Given the description of an element on the screen output the (x, y) to click on. 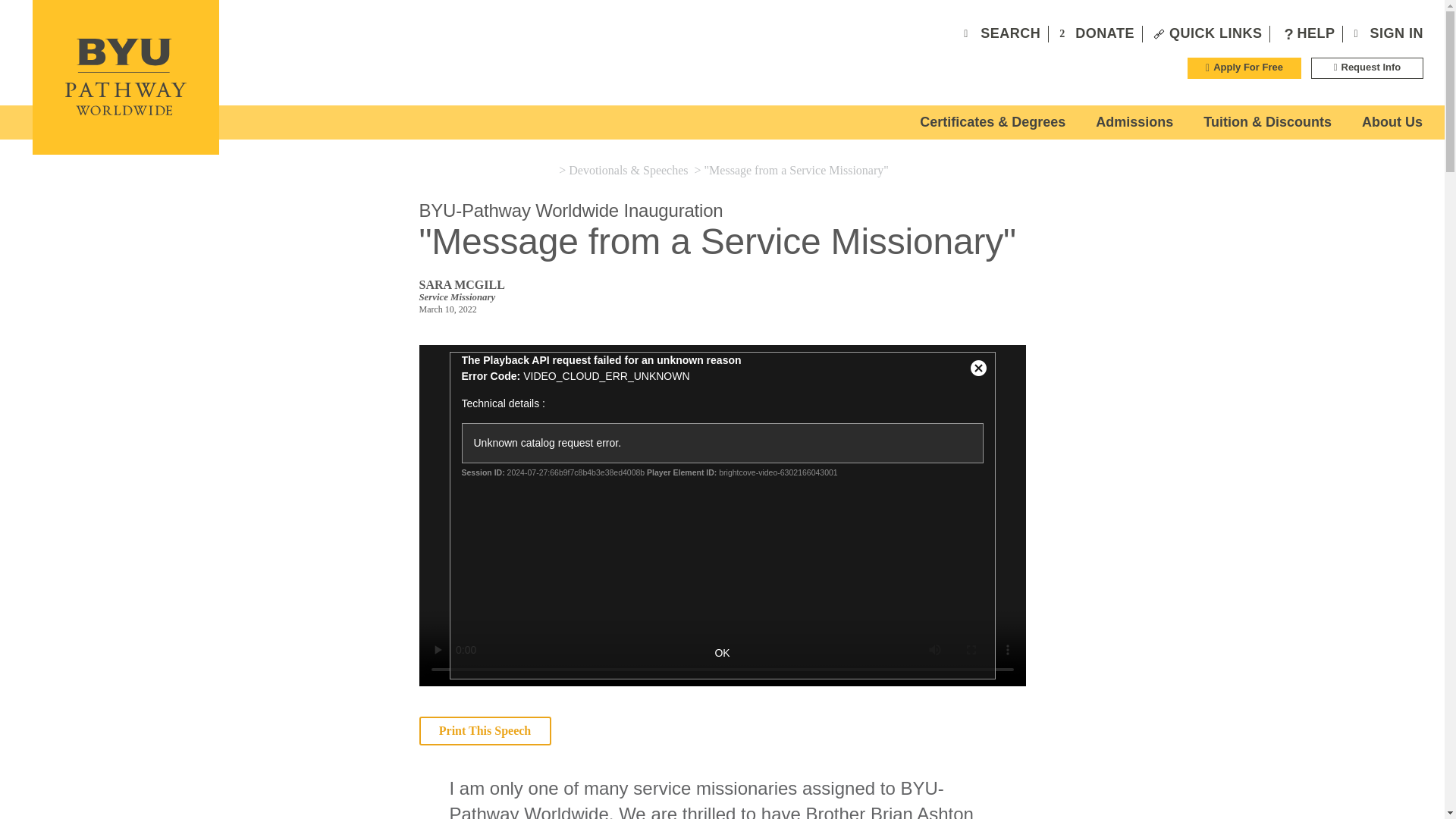
DONATE (1095, 33)
HELP (1306, 33)
SEARCH (1000, 33)
Request Info (1367, 67)
SIGN IN (1387, 33)
Close Modal Dialog (978, 368)
Apply For Free (1244, 67)
